Given the description of an element on the screen output the (x, y) to click on. 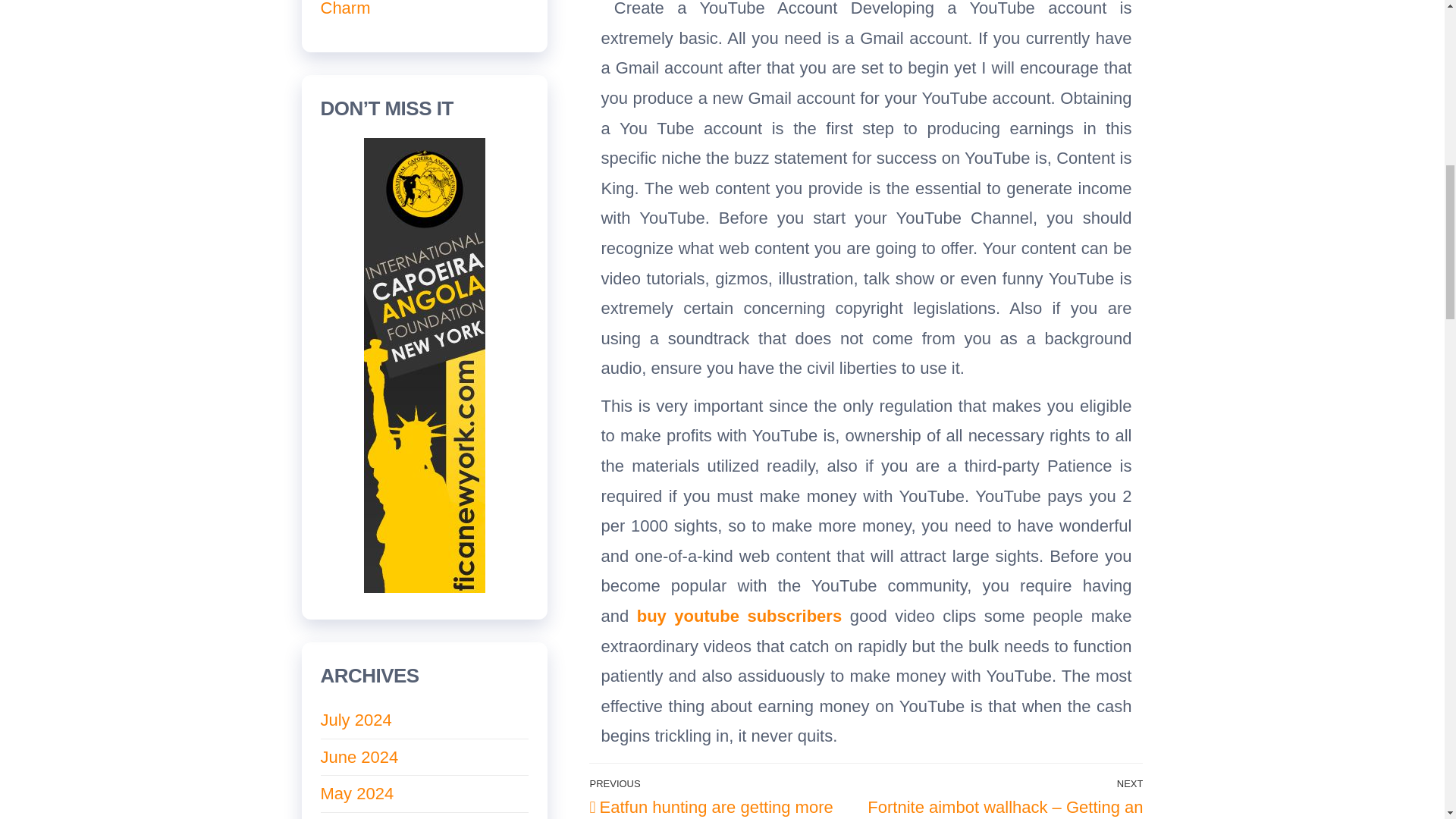
buy youtube subscribers (739, 615)
June 2024 (358, 756)
May 2024 (356, 793)
July 2024 (355, 719)
